Given the description of an element on the screen output the (x, y) to click on. 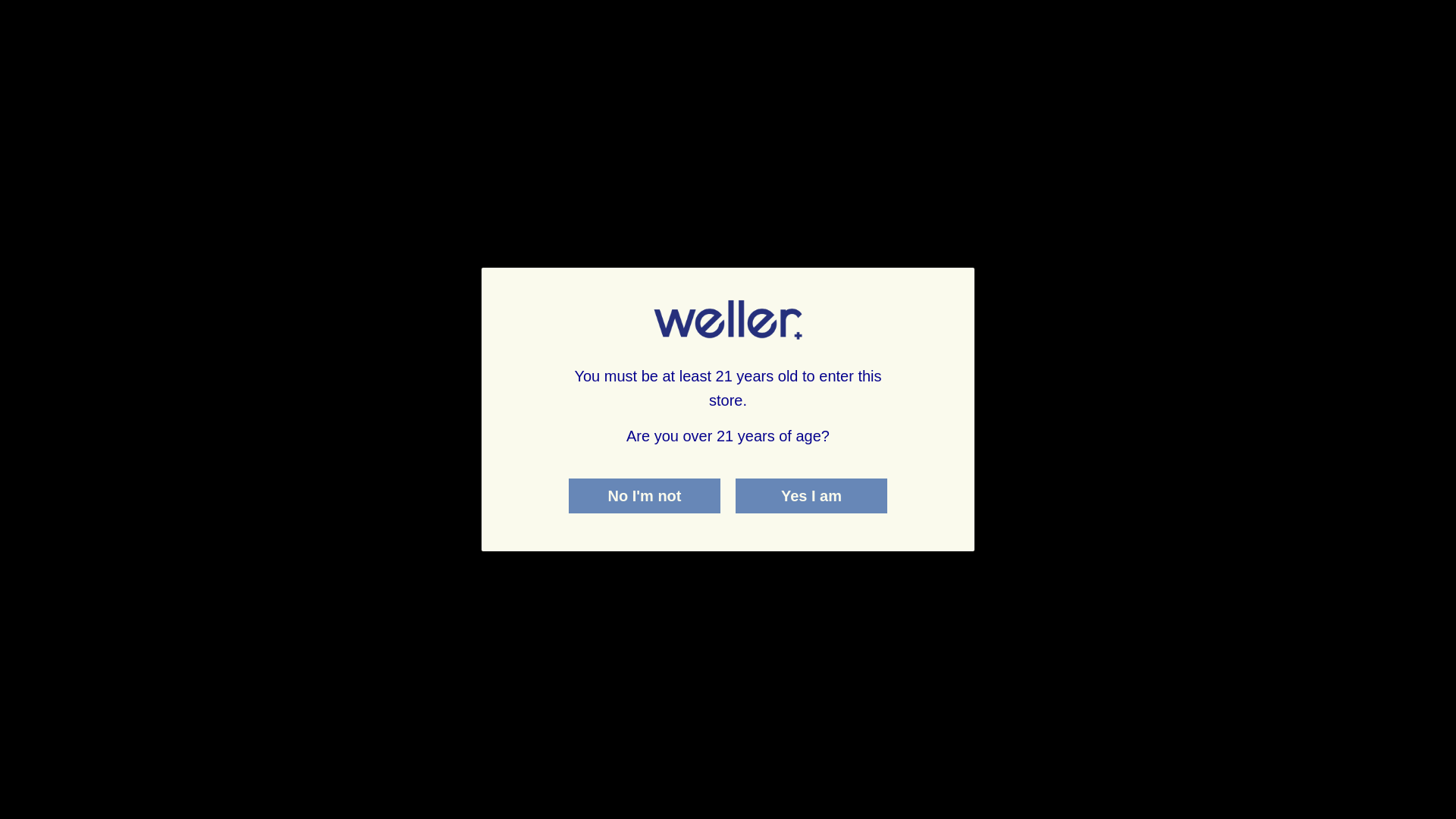
1 (698, 1)
